Given the description of an element on the screen output the (x, y) to click on. 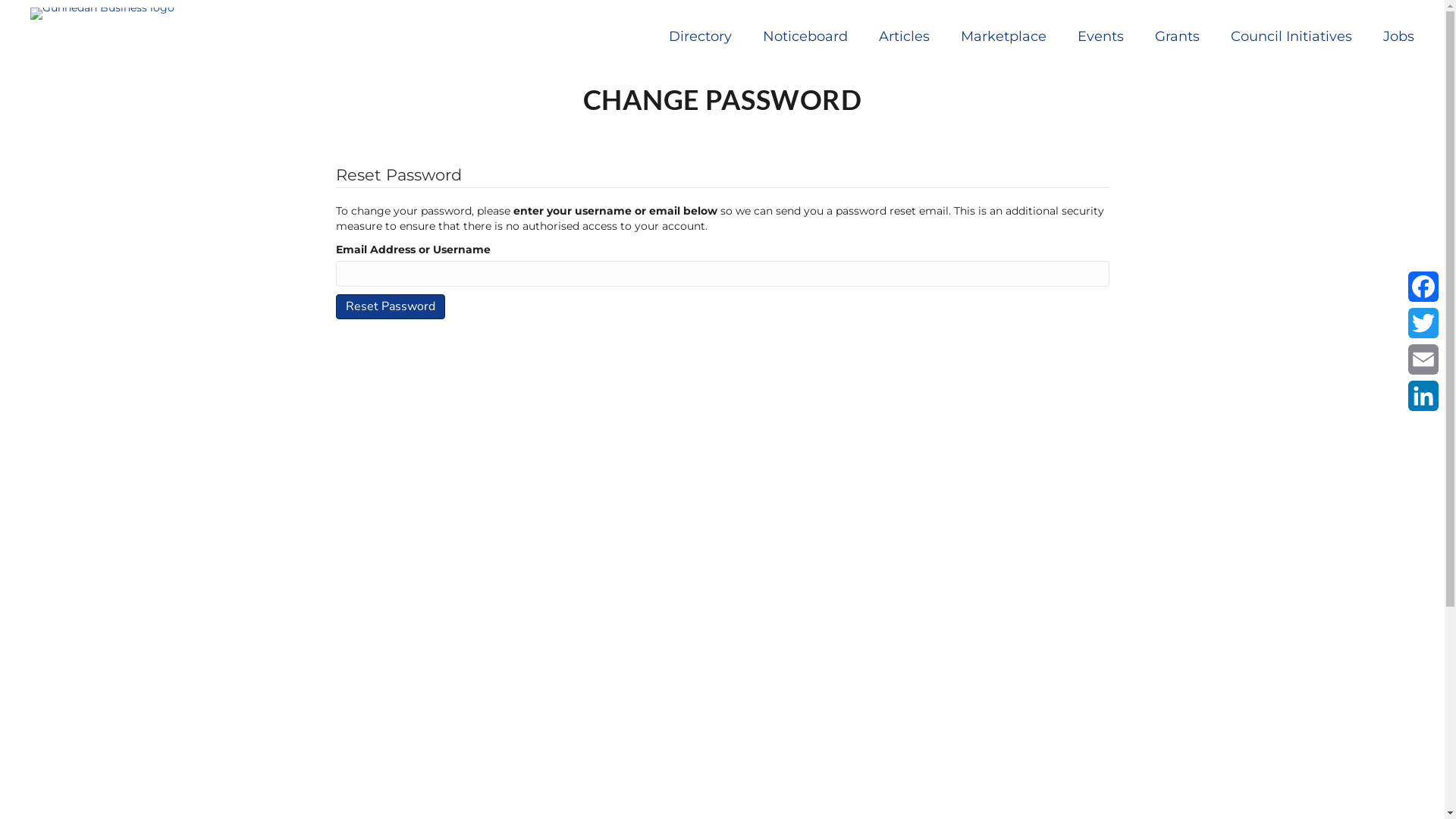
Twitter Element type: text (1423, 322)
Facebook Element type: text (1423, 286)
Council Initiatives Element type: text (1291, 36)
Directory Element type: text (699, 36)
Articles Element type: text (903, 36)
Grants Element type: text (1176, 36)
Noticeboard Element type: text (804, 36)
Events Element type: text (1100, 36)
LinkedIn Element type: text (1423, 395)
Gunnedah Business Element type: hover (102, 13)
Jobs Element type: text (1398, 36)
Marketplace Element type: text (1003, 36)
Email Element type: text (1423, 359)
Reset Password Element type: text (389, 306)
